Given the description of an element on the screen output the (x, y) to click on. 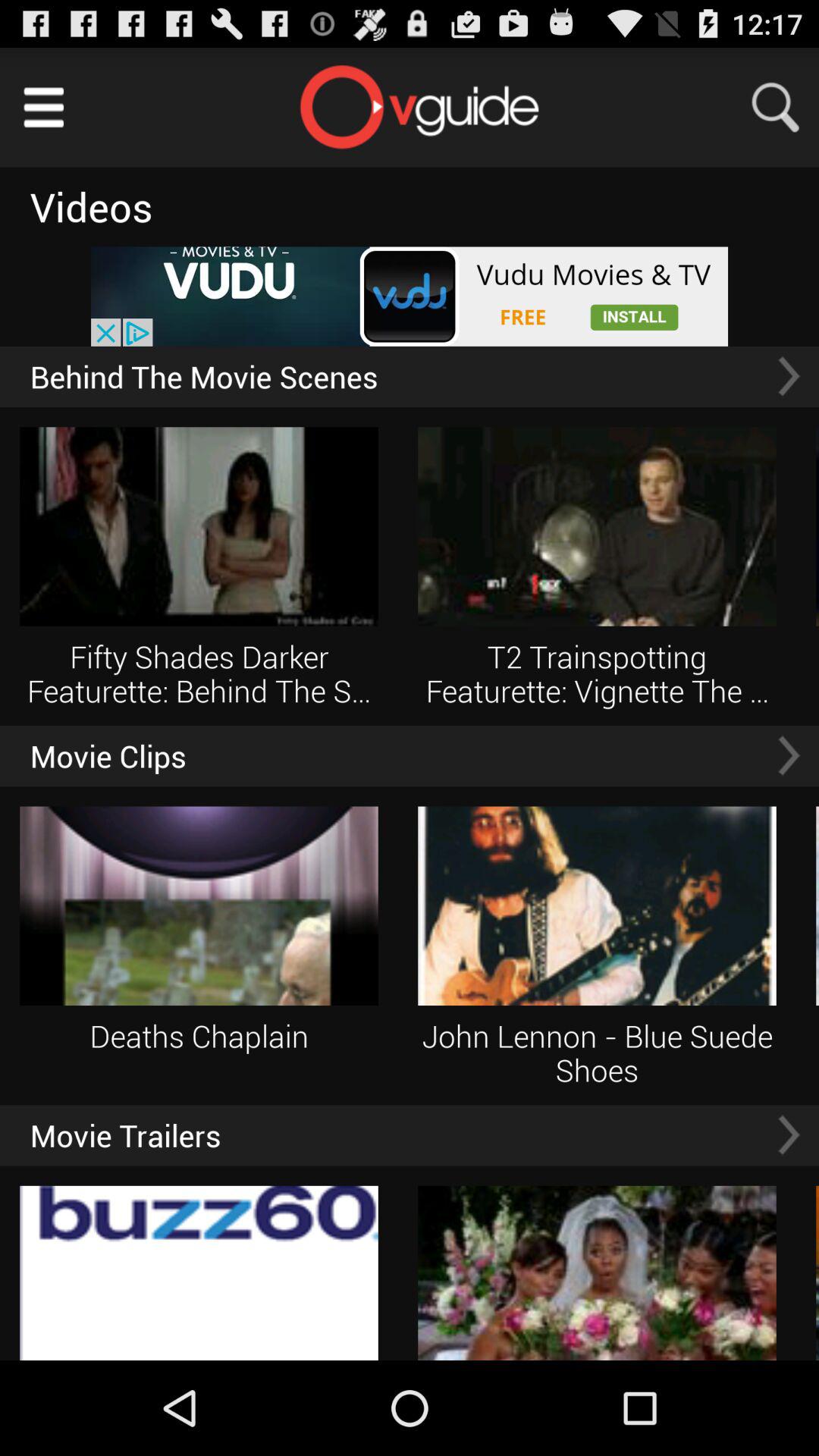
next button (789, 376)
